Given the description of an element on the screen output the (x, y) to click on. 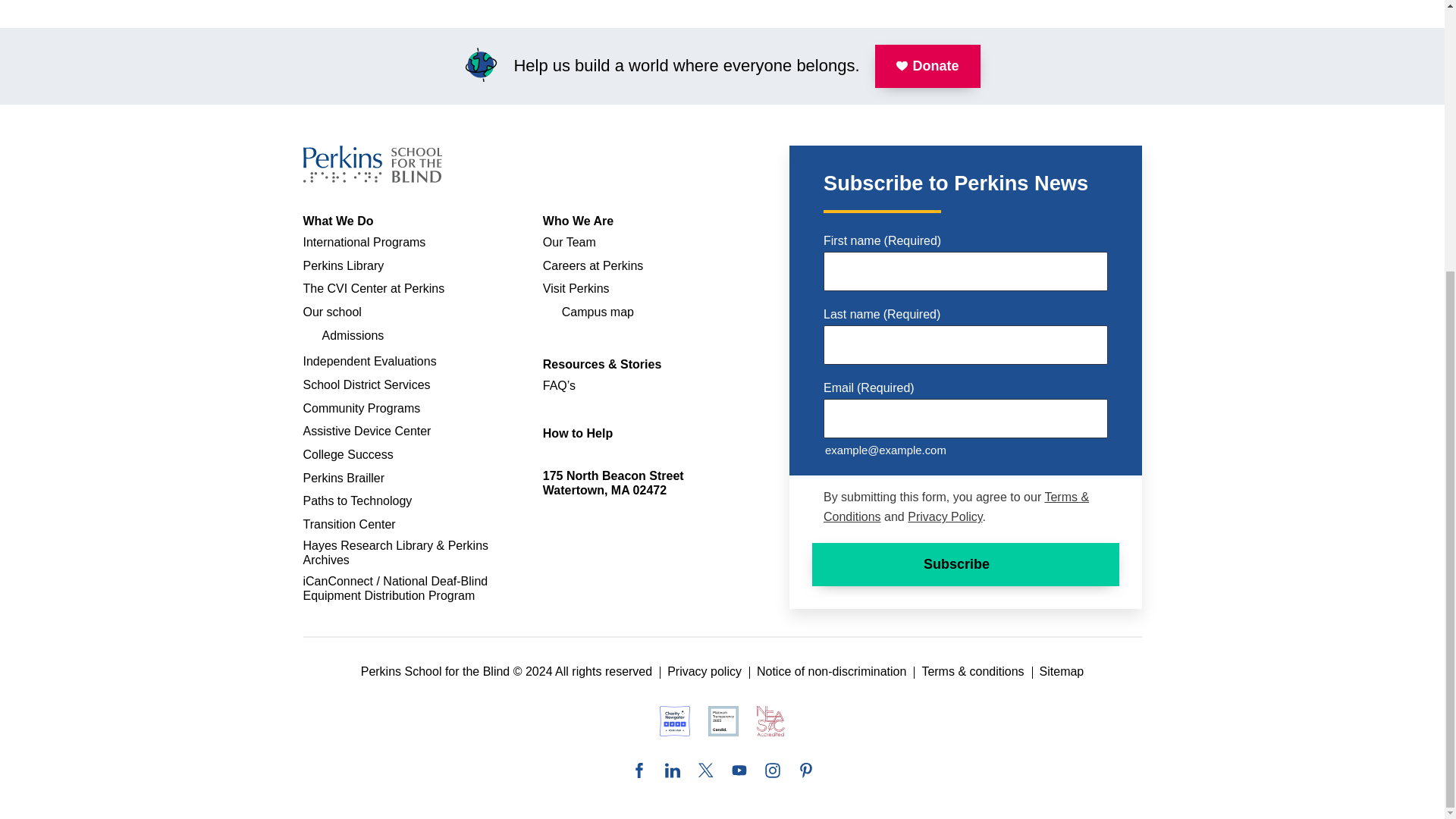
Perkins School for the Blind Logo (372, 163)
